Given the description of an element on the screen output the (x, y) to click on. 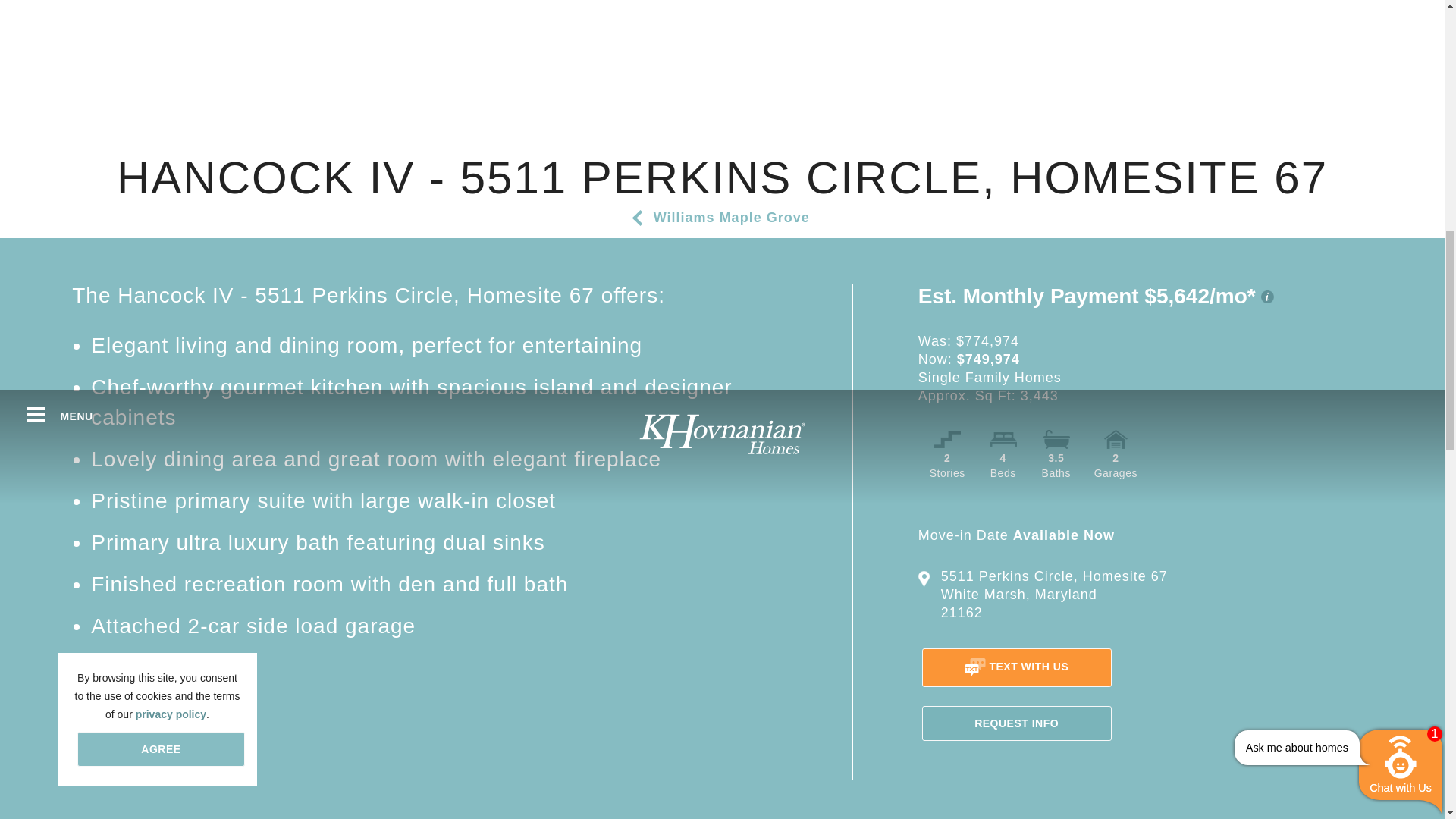
REQUEST INFO (1016, 723)
Williams Maple Grove (731, 217)
TEXT WITH US (1016, 667)
